Given the description of an element on the screen output the (x, y) to click on. 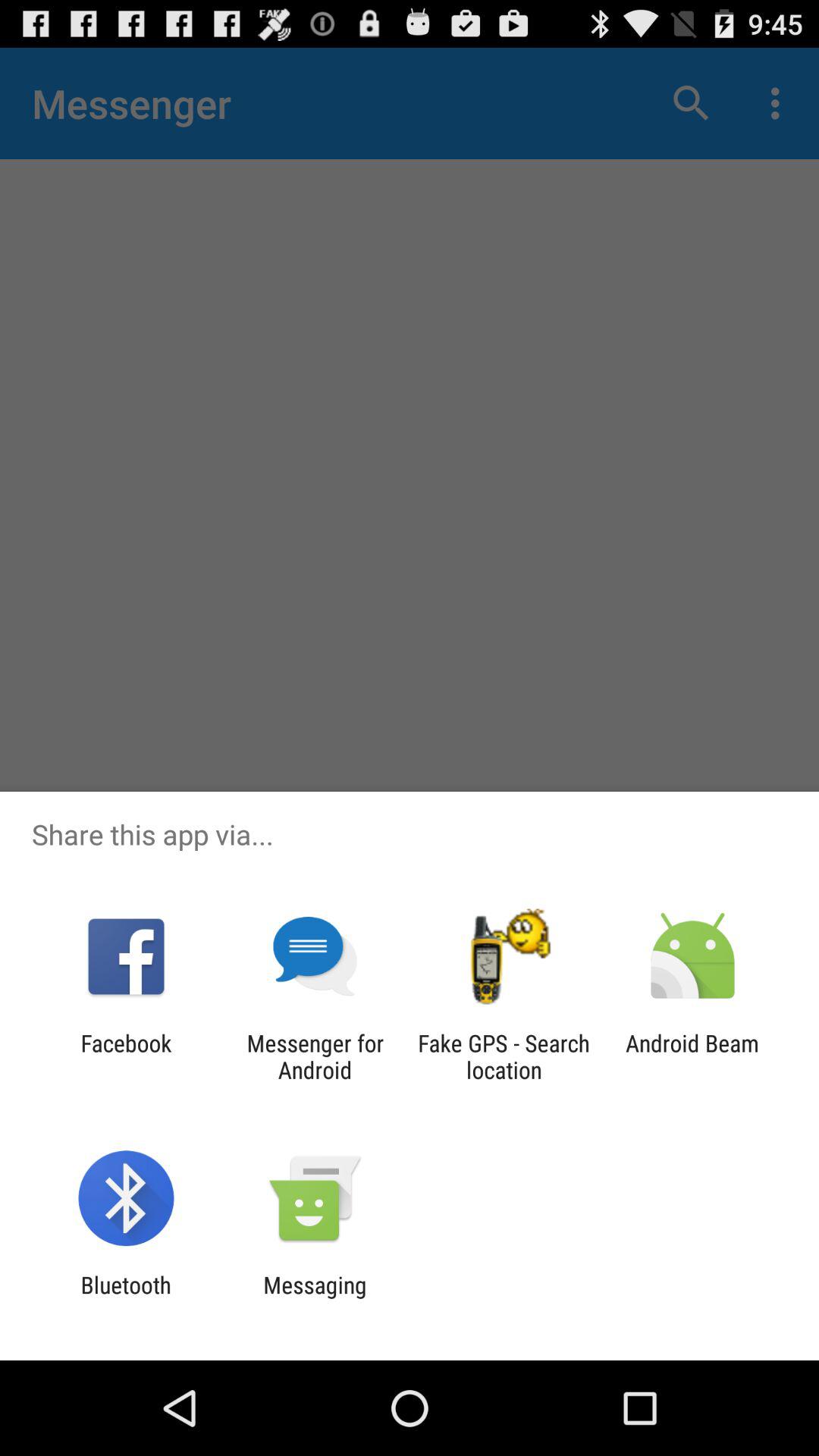
launch messaging item (314, 1298)
